Given the description of an element on the screen output the (x, y) to click on. 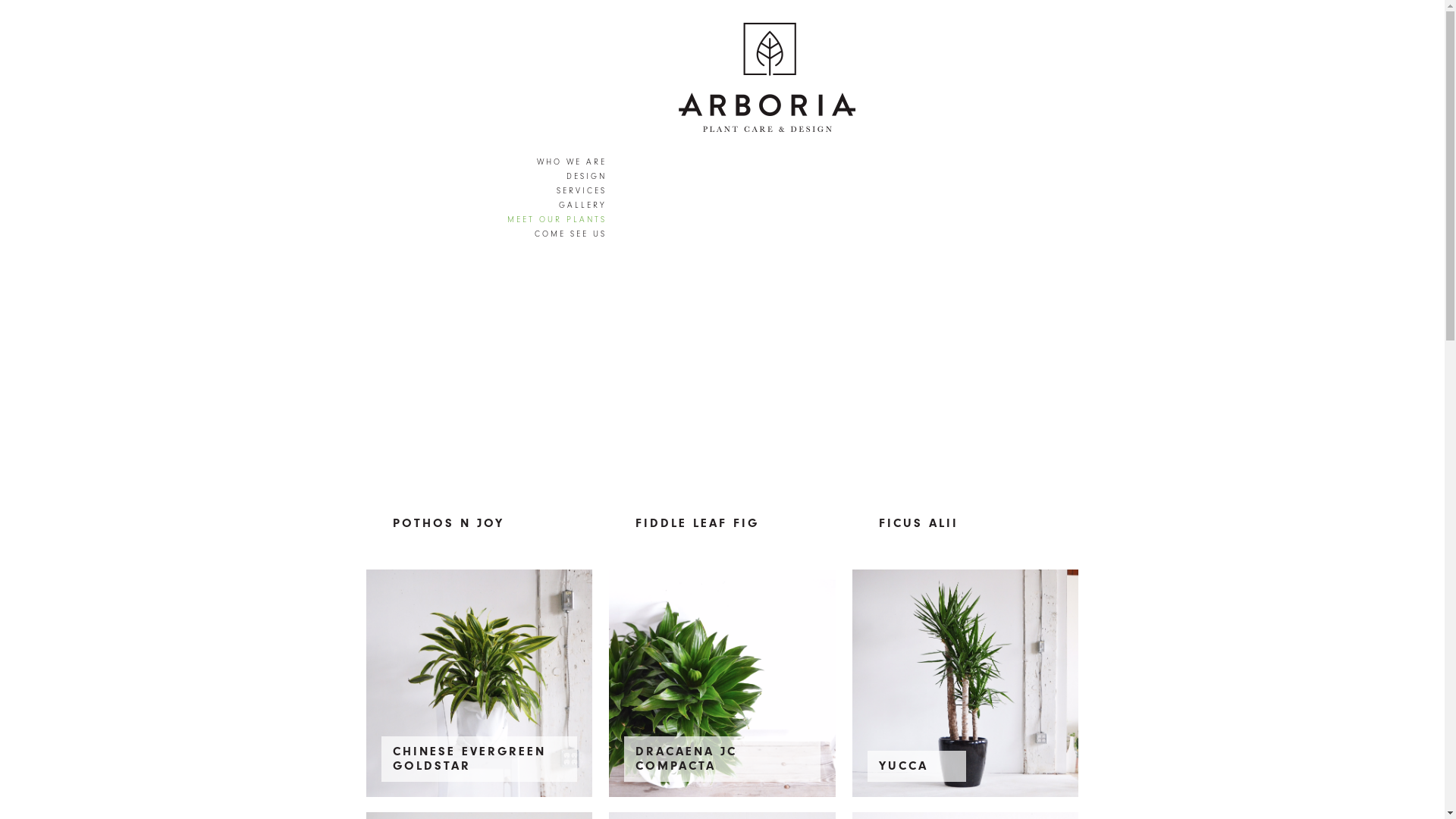
DRACAENA JC COMPACTA Element type: text (721, 683)
GALLERY Element type: text (556, 205)
WHO WE ARE Element type: text (556, 161)
POTHOS N JOY Element type: text (478, 440)
DESIGN Element type: text (556, 176)
SERVICES Element type: text (556, 190)
MEET OUR PLANTS Element type: text (556, 219)
CHINESE EVERGREEN GOLDSTAR Element type: text (478, 683)
YUCCA Element type: text (965, 683)
FIDDLE LEAF FIG Element type: text (721, 440)
FICUS ALII Element type: text (965, 440)
COME SEE US Element type: text (556, 233)
